Given the description of an element on the screen output the (x, y) to click on. 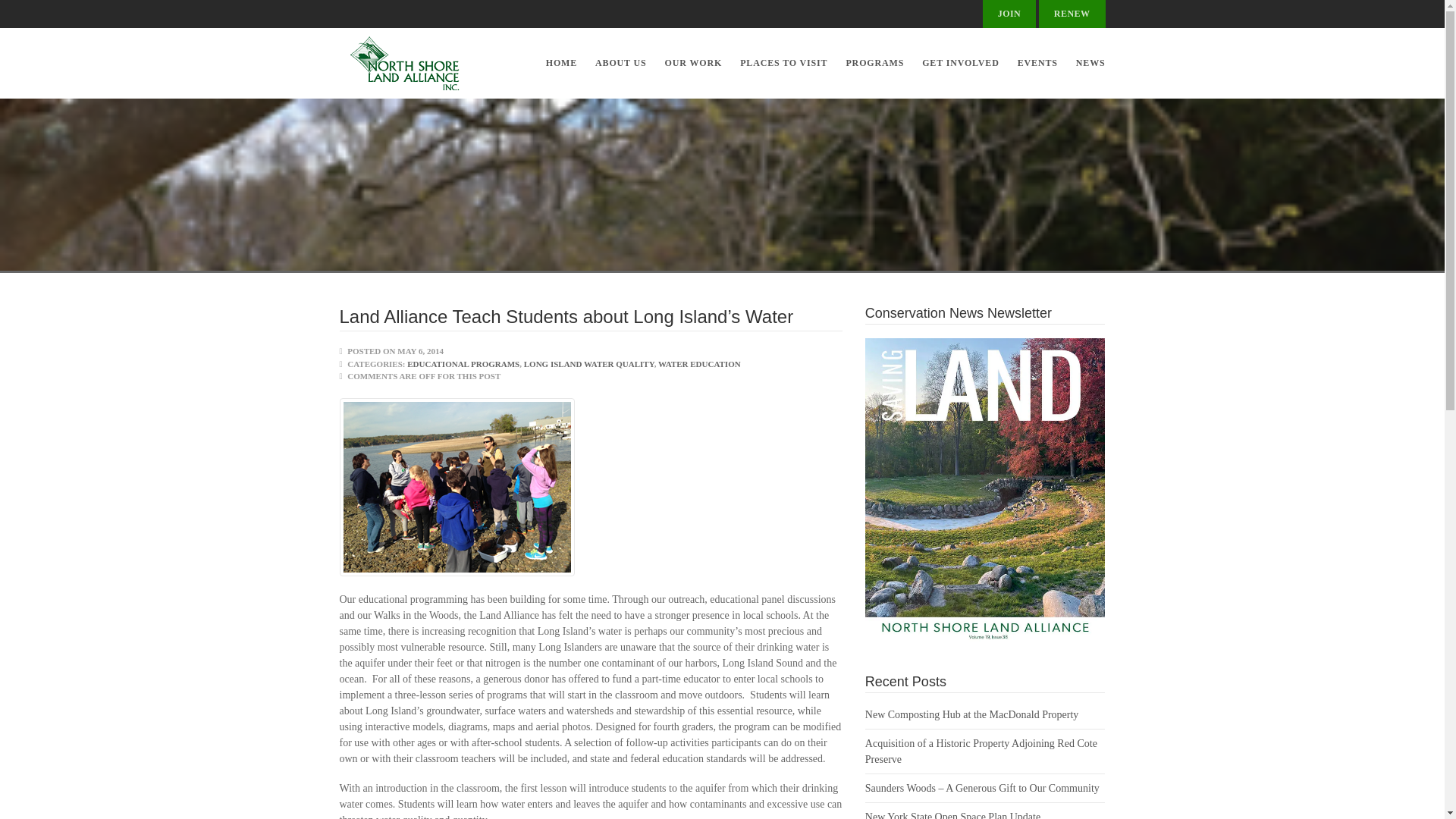
OUR WORK (694, 62)
North Shore Land Alliance (411, 63)
ABOUT US (621, 62)
RENEW (1072, 13)
PLACES TO VISIT (782, 62)
JOIN (1009, 13)
